Given the description of an element on the screen output the (x, y) to click on. 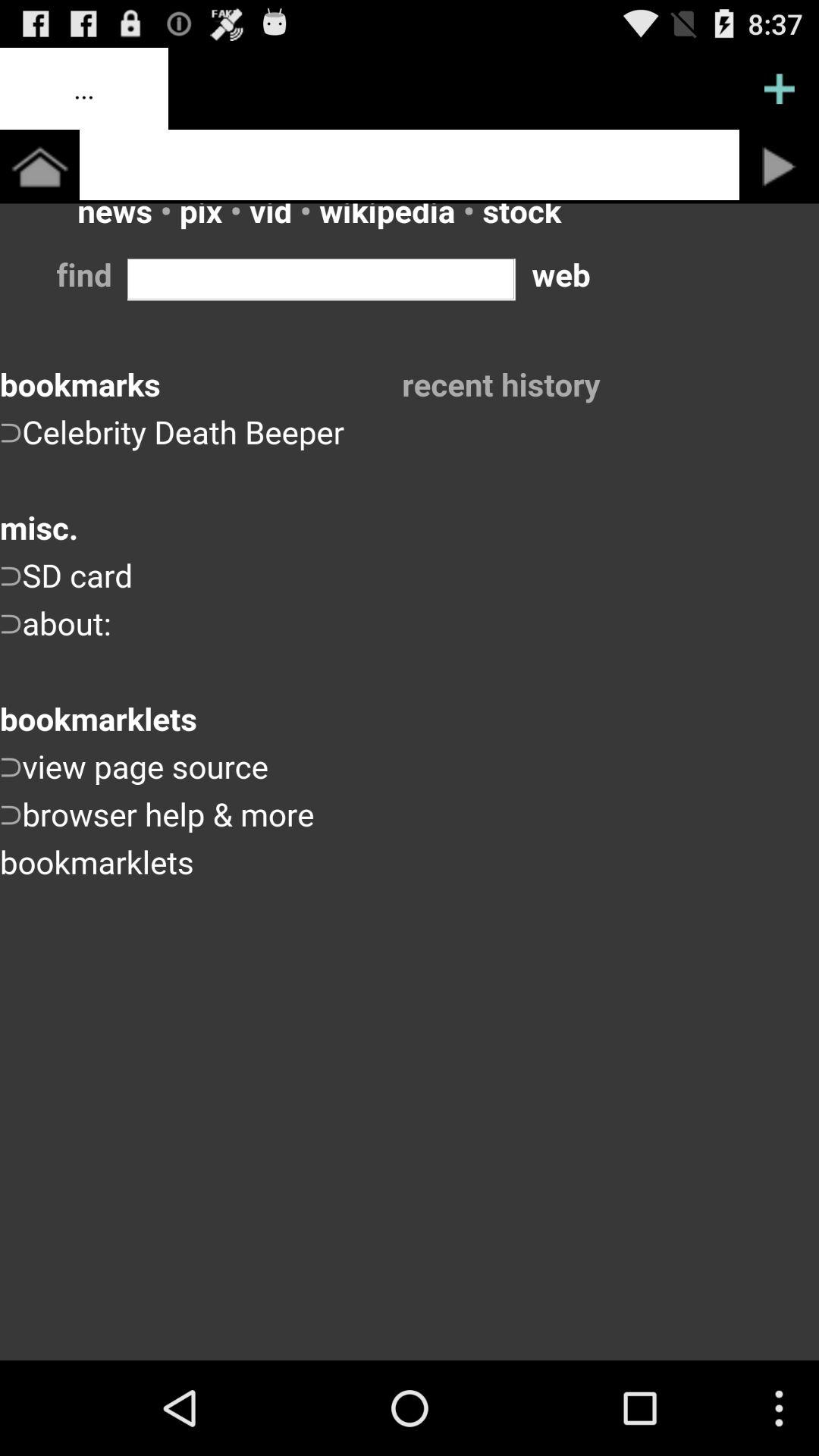
search bar (409, 164)
